Given the description of an element on the screen output the (x, y) to click on. 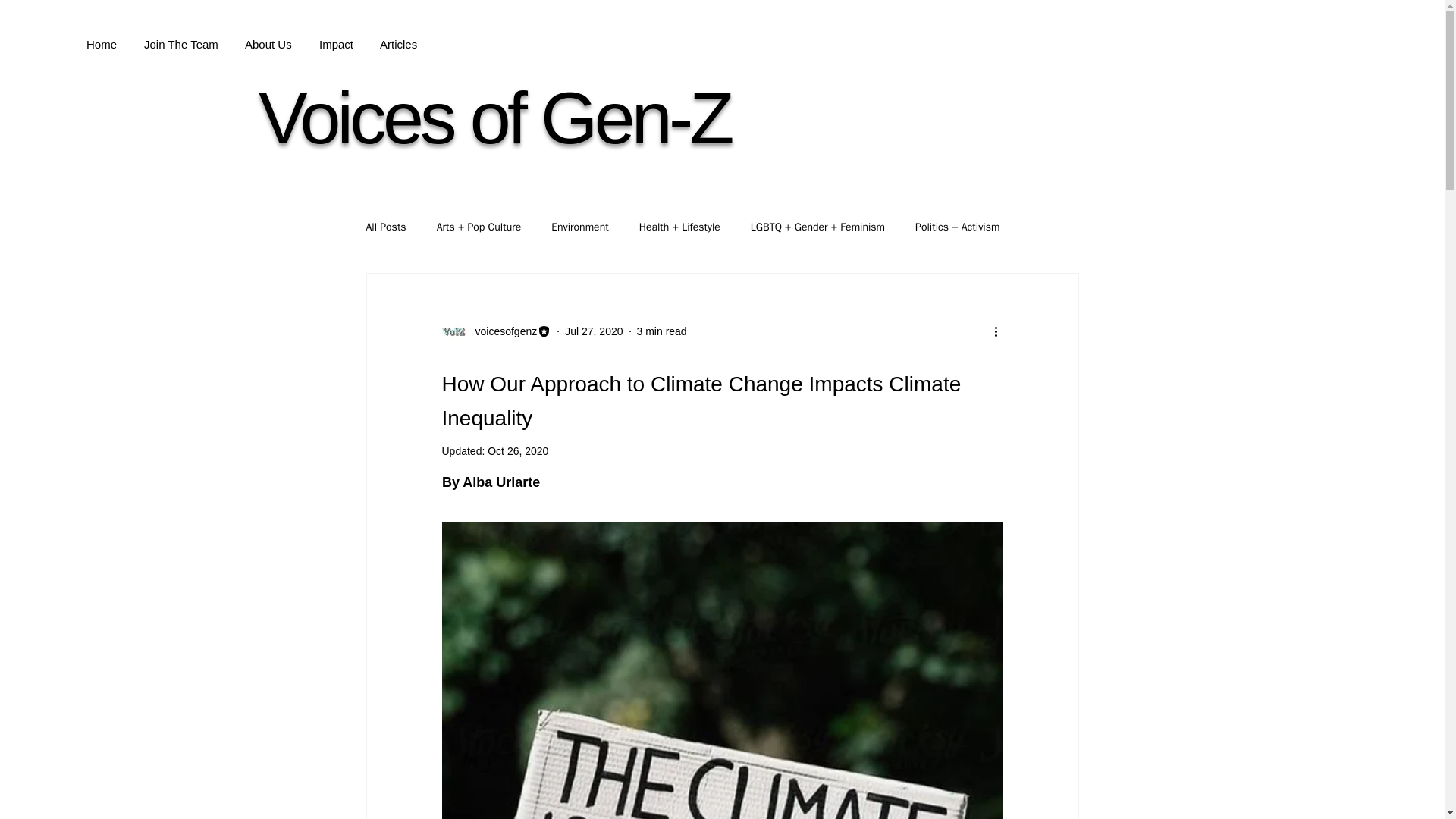
Home (101, 37)
Impact (335, 37)
About Us (268, 37)
Voices of Gen-Z (494, 117)
Environment (579, 227)
Jul 27, 2020 (593, 330)
Join The Team (181, 37)
Oct 26, 2020 (517, 451)
voicesofgenz (501, 330)
All Posts (385, 227)
Articles (397, 37)
3 min read (662, 330)
